Given the description of an element on the screen output the (x, y) to click on. 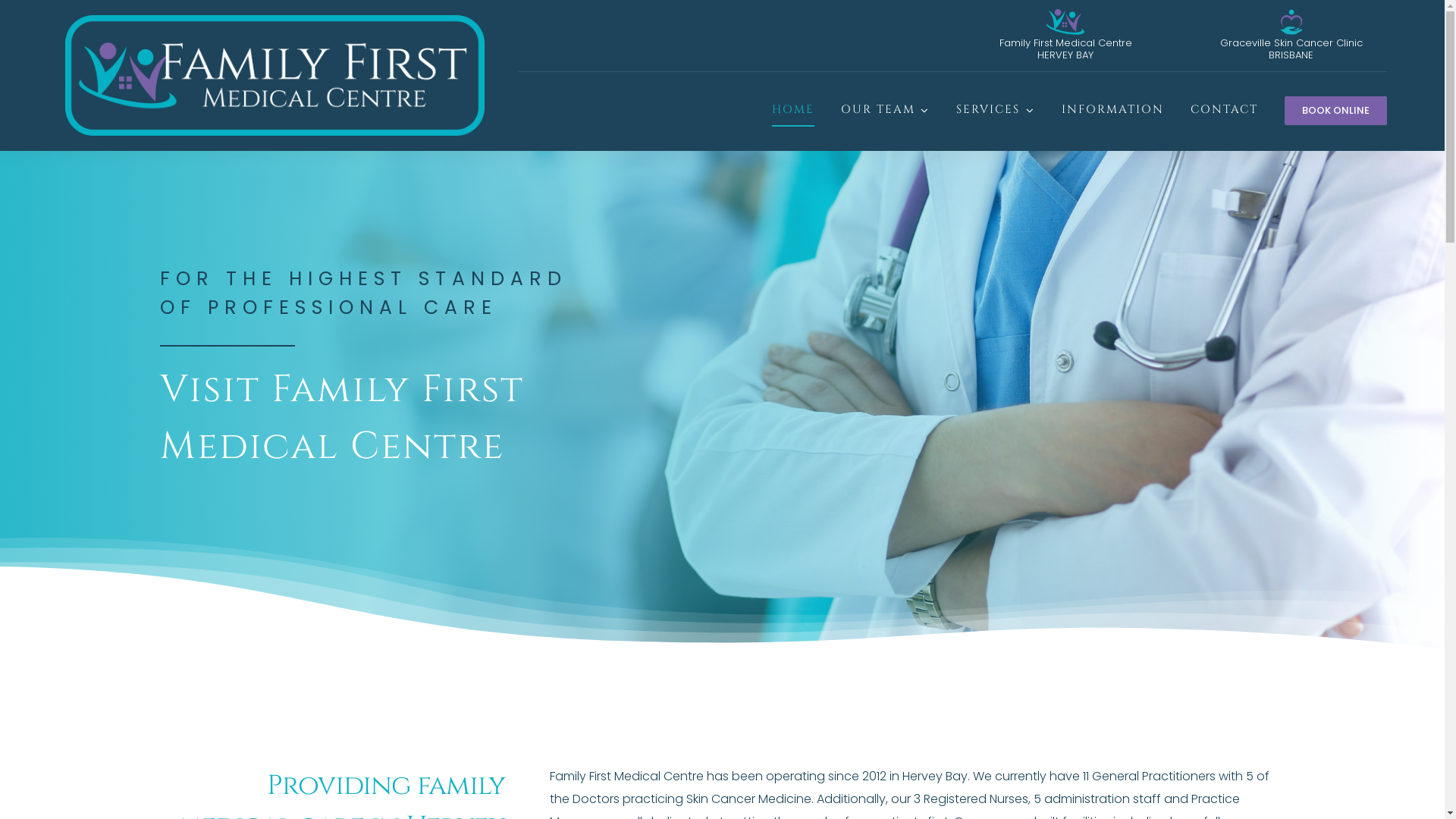
HOME Element type: text (792, 110)
INFORMATION Element type: text (1112, 110)
SERVICES Element type: text (995, 110)
CONTACT Element type: text (1224, 110)
ffc Element type: hover (1065, 21)
OUR TEAM Element type: text (885, 110)
BOOK ONLINE Element type: text (1335, 110)
gscc Element type: hover (1291, 21)
